Given the description of an element on the screen output the (x, y) to click on. 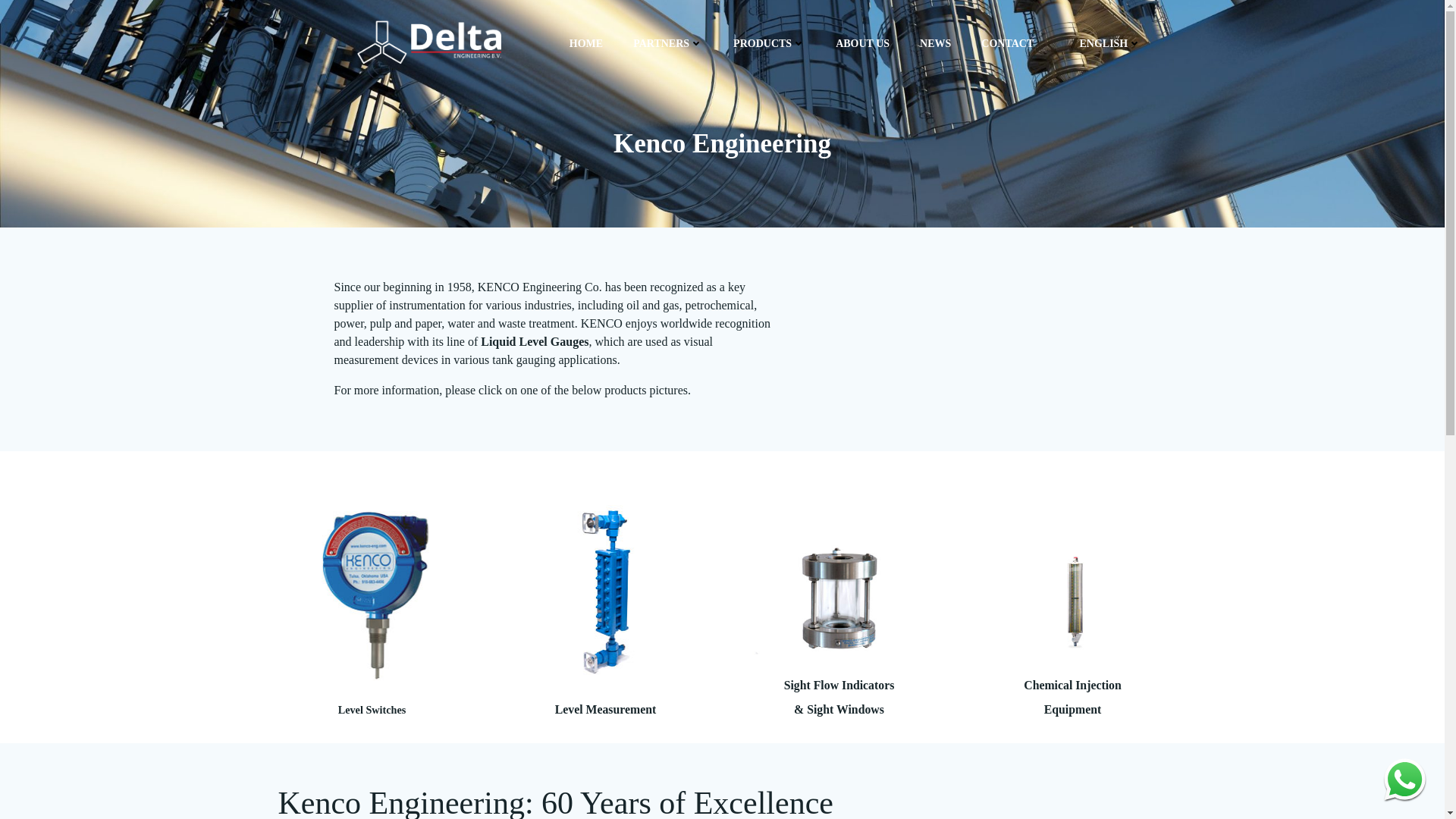
ENGLISH (1102, 43)
ABOUT US (862, 43)
CONTACT (1007, 43)
NEWS (935, 43)
PRODUCTS (769, 43)
PARTNERS (668, 43)
HOME (585, 43)
